Given the description of an element on the screen output the (x, y) to click on. 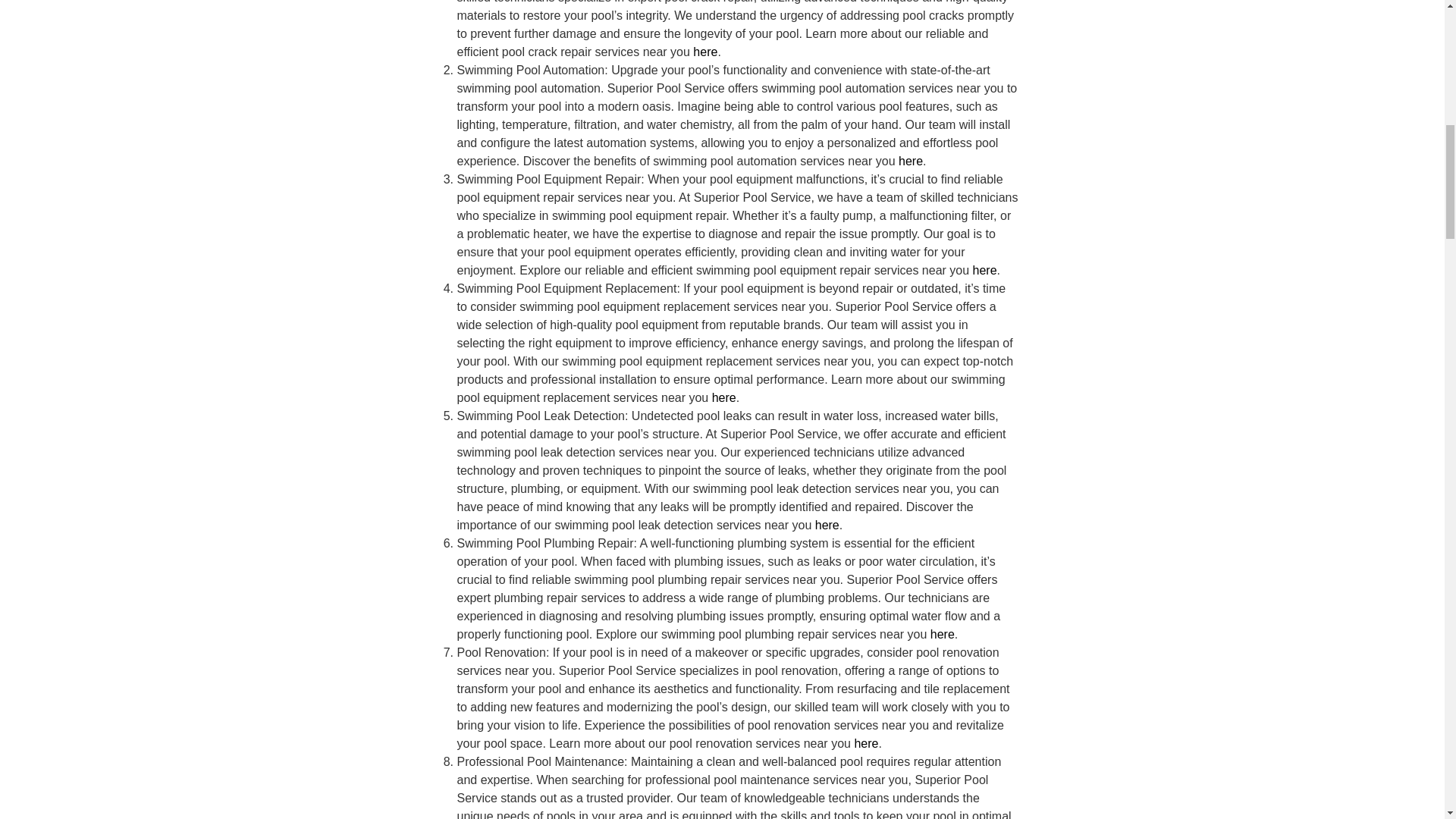
here (910, 160)
here (827, 524)
here (723, 397)
here (705, 51)
here (984, 269)
here (865, 743)
here (942, 634)
